Given the description of an element on the screen output the (x, y) to click on. 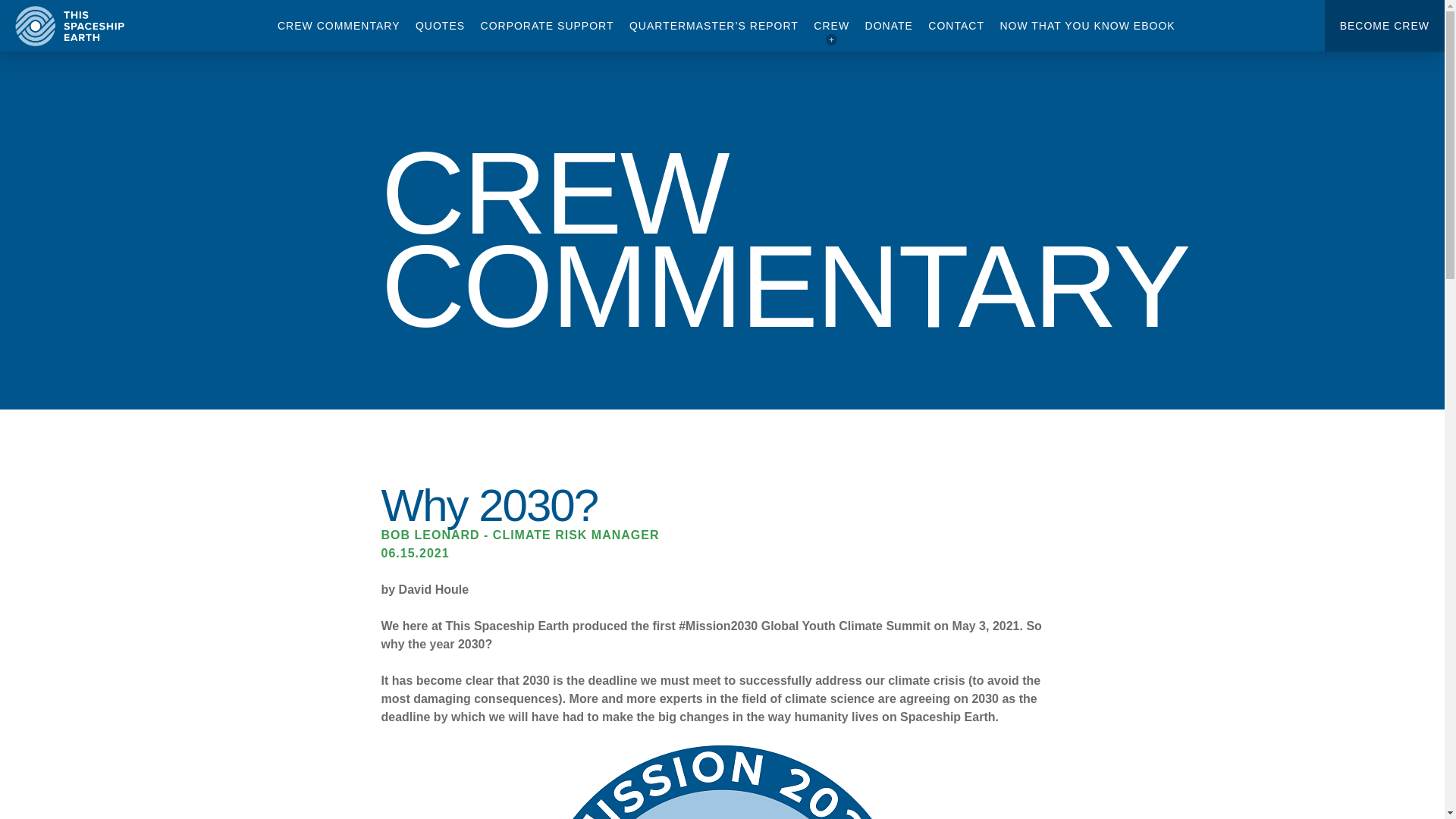
CONTACT (956, 25)
DONATE (889, 25)
CREW COMMENTARY (338, 25)
CORPORATE SUPPORT (547, 25)
NOW THAT YOU KNOW EBOOK (1086, 25)
CREW (831, 25)
QUOTES (440, 25)
